Given the description of an element on the screen output the (x, y) to click on. 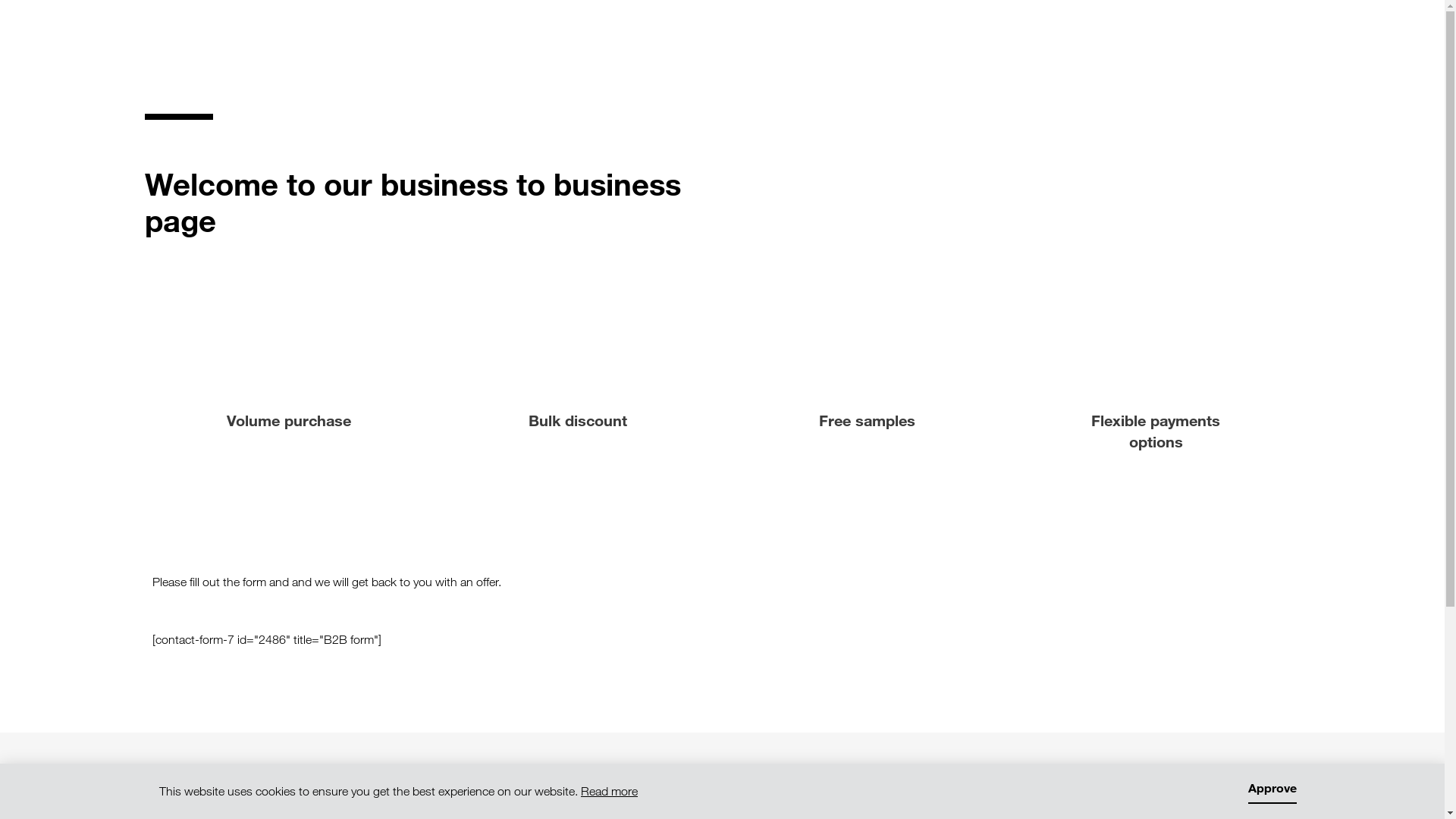
1handPlate_logo_Trademark Element type: hover (219, 784)
Read more Element type: text (608, 791)
Approve Element type: text (1272, 790)
